Given the description of an element on the screen output the (x, y) to click on. 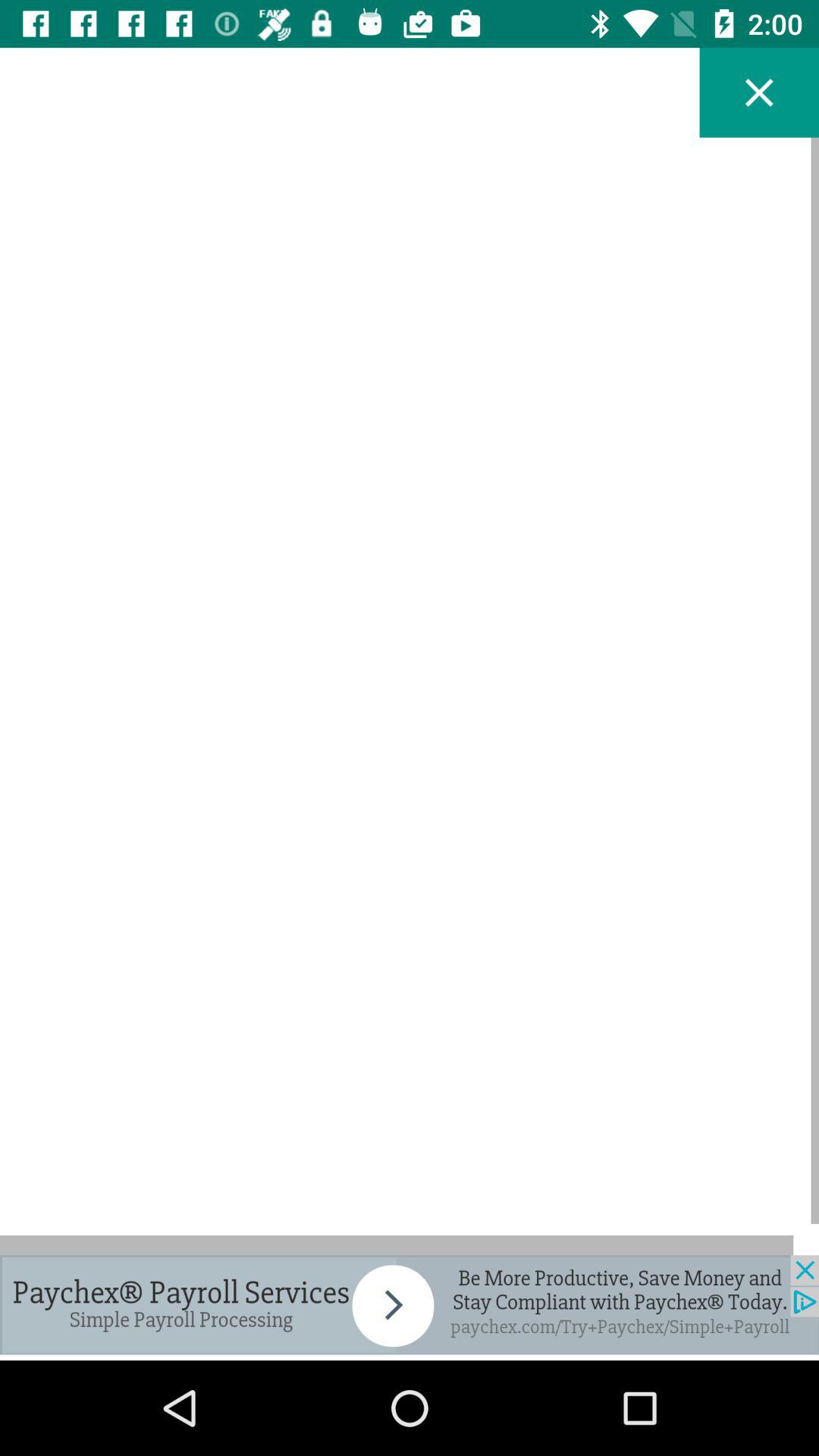
view this advertisement (409, 1304)
